Given the description of an element on the screen output the (x, y) to click on. 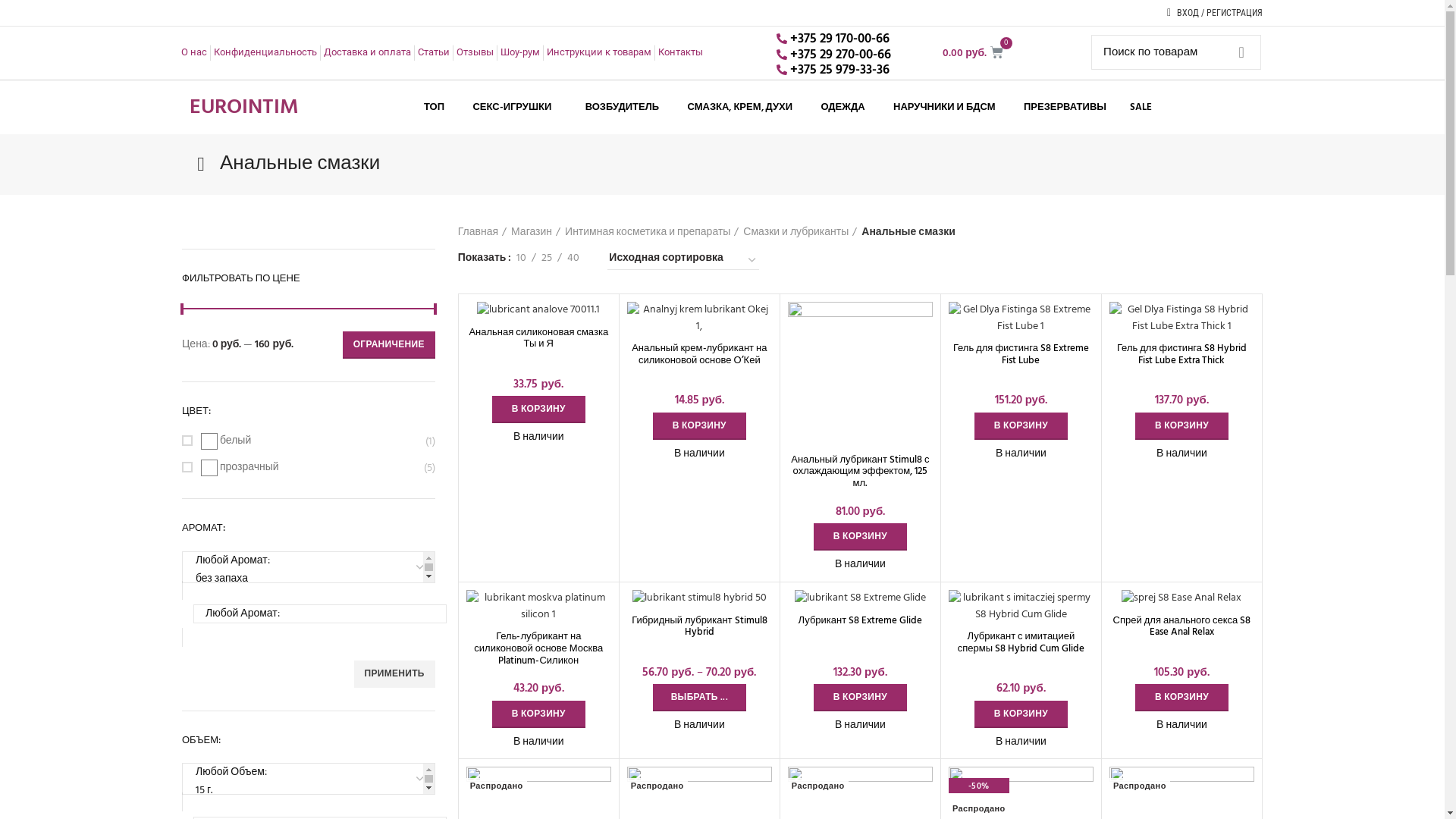
10 Element type: text (521, 258)
EUROINTIM Element type: text (243, 107)
SALE Element type: text (1141, 107)
+375 29 170-00-66 Element type: text (846, 39)
+375 29 270-00-66 Element type: text (846, 54)
25 Element type: text (546, 258)
40 Element type: text (572, 258)
+375 25 979-33-36 Element type: text (846, 70)
